Given the description of an element on the screen output the (x, y) to click on. 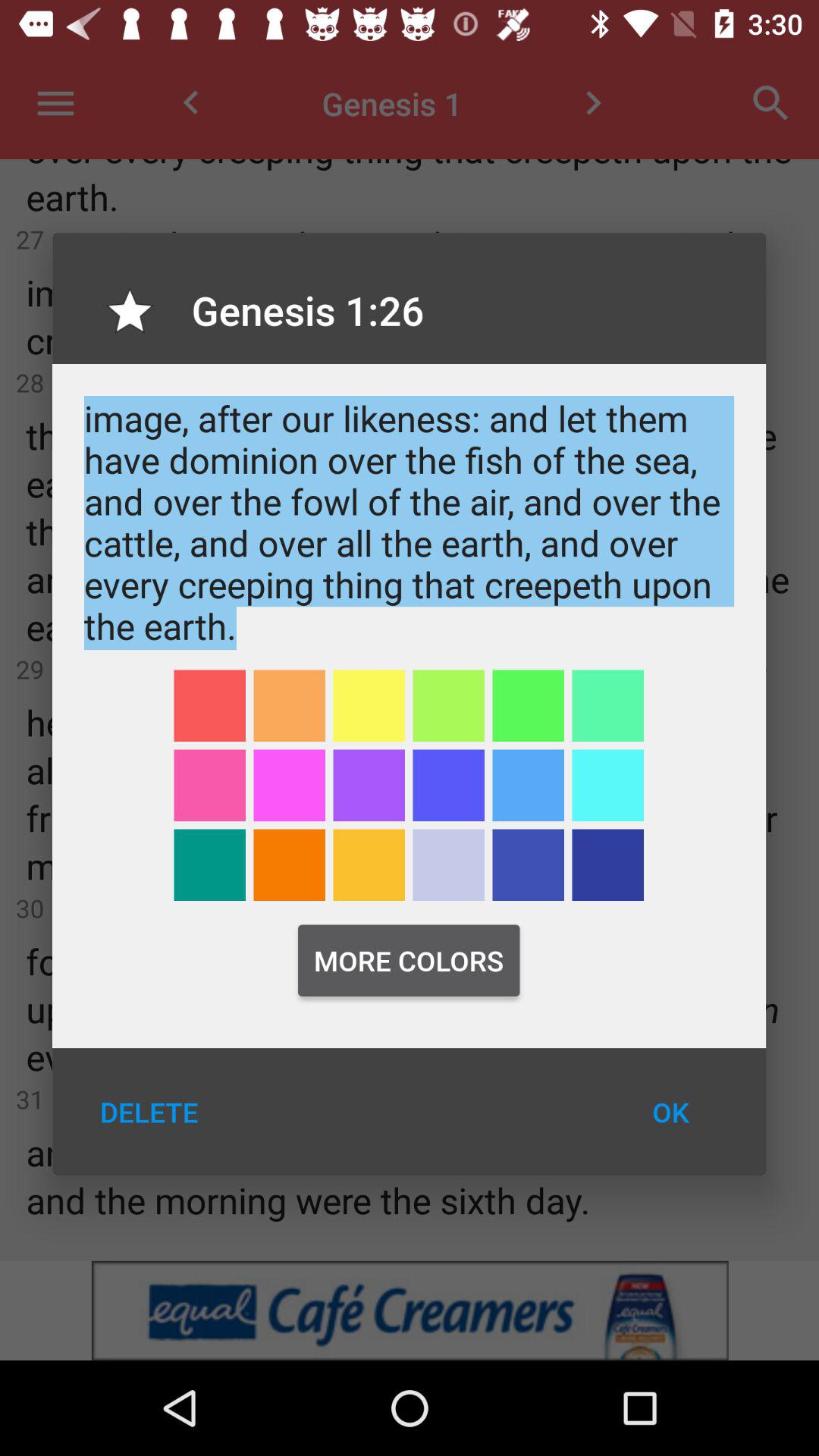
color pallet and color orange (368, 864)
